Given the description of an element on the screen output the (x, y) to click on. 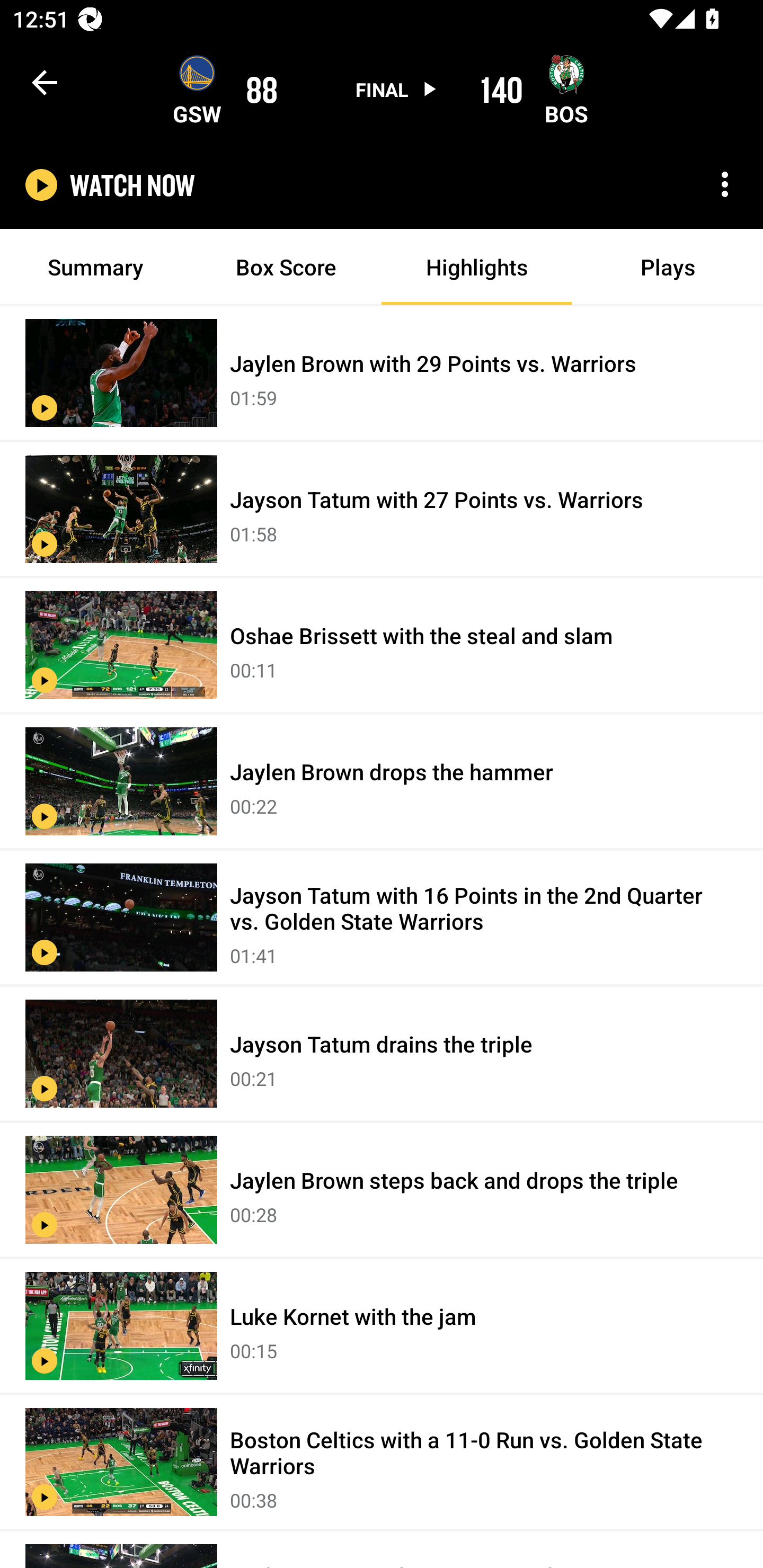
Navigate up (44, 82)
More options (724, 183)
WATCH NOW (132, 184)
Summary (95, 266)
Box Score (285, 266)
Plays (667, 266)
Jaylen Brown with 29 Points vs. Warriors 01:59 (381, 372)
Jayson Tatum with 27 Points vs. Warriors 01:58 (381, 509)
Oshae Brissett with the steal and slam 00:11 (381, 645)
Jaylen Brown drops the hammer 00:22 (381, 782)
Jayson Tatum drains the triple 00:21 (381, 1054)
Jaylen Brown steps back and drops the triple 00:28 (381, 1189)
Luke Kornet with the jam 00:15 (381, 1326)
